Given the description of an element on the screen output the (x, y) to click on. 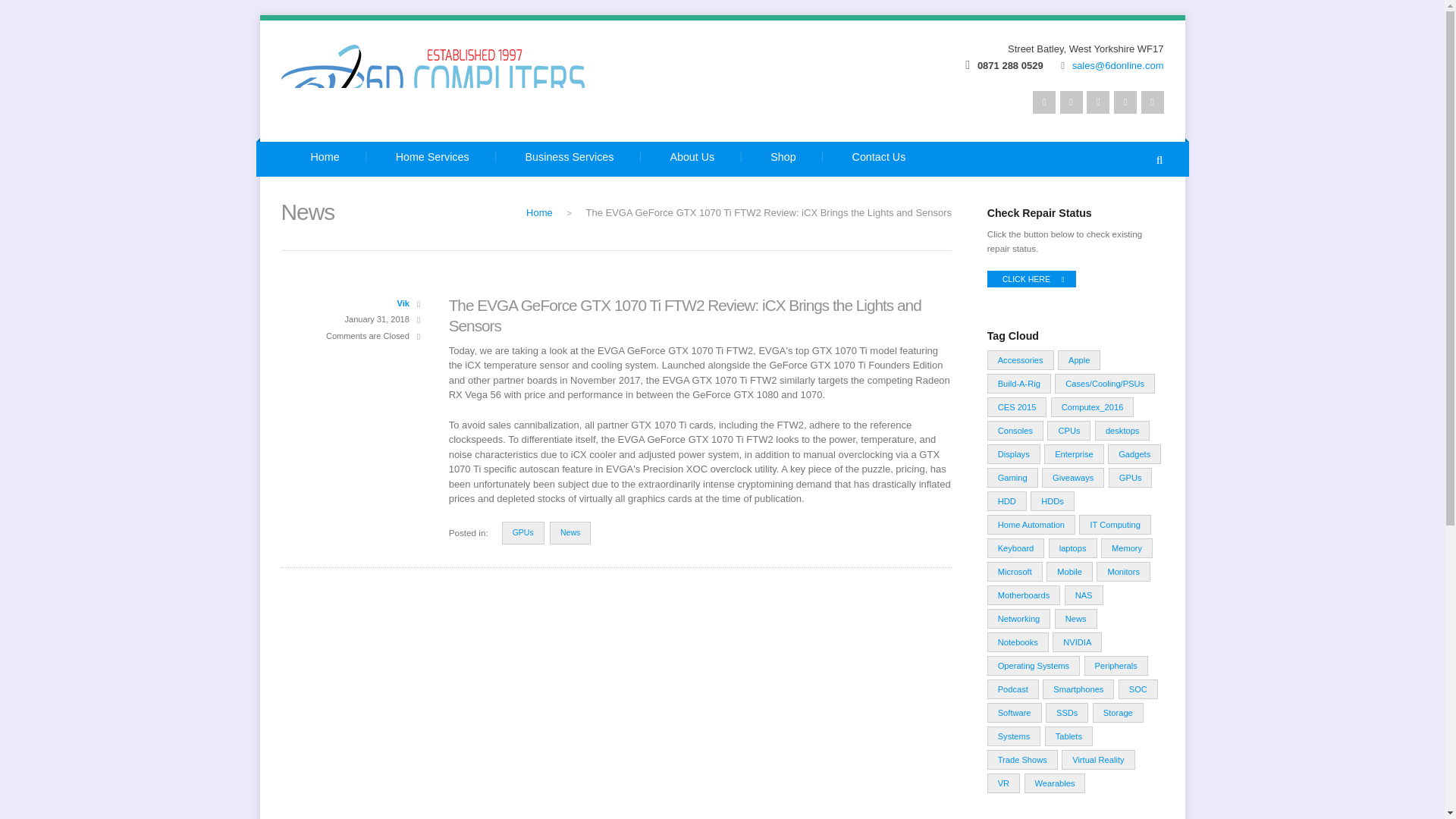
Home Services (432, 159)
GPUs (523, 532)
News (570, 532)
Home (324, 159)
Twitter (1043, 101)
Vik (403, 302)
Posts by Vik (403, 302)
Google Plus (1125, 101)
Apple (1079, 360)
Linkedin (1097, 101)
